Given the description of an element on the screen output the (x, y) to click on. 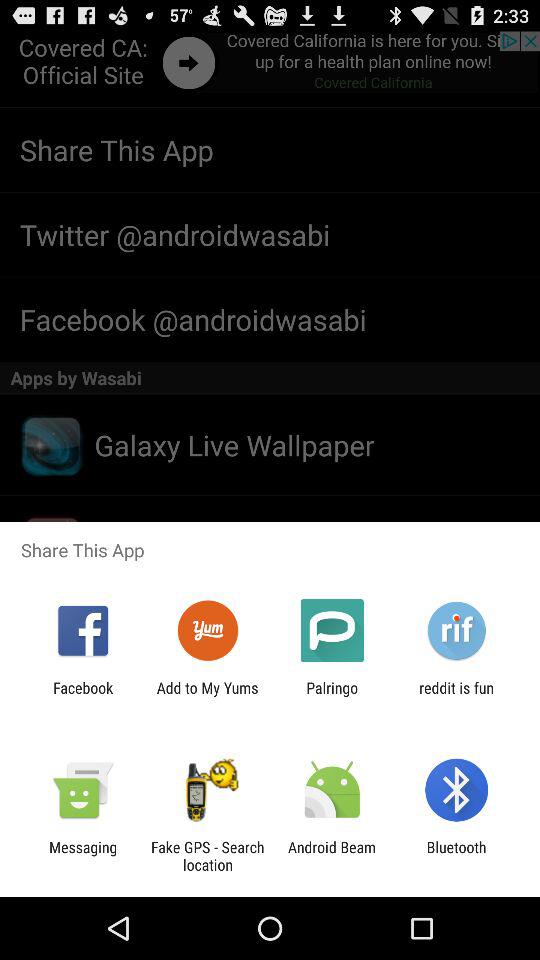
tap the app to the left of the fake gps search (83, 856)
